Given the description of an element on the screen output the (x, y) to click on. 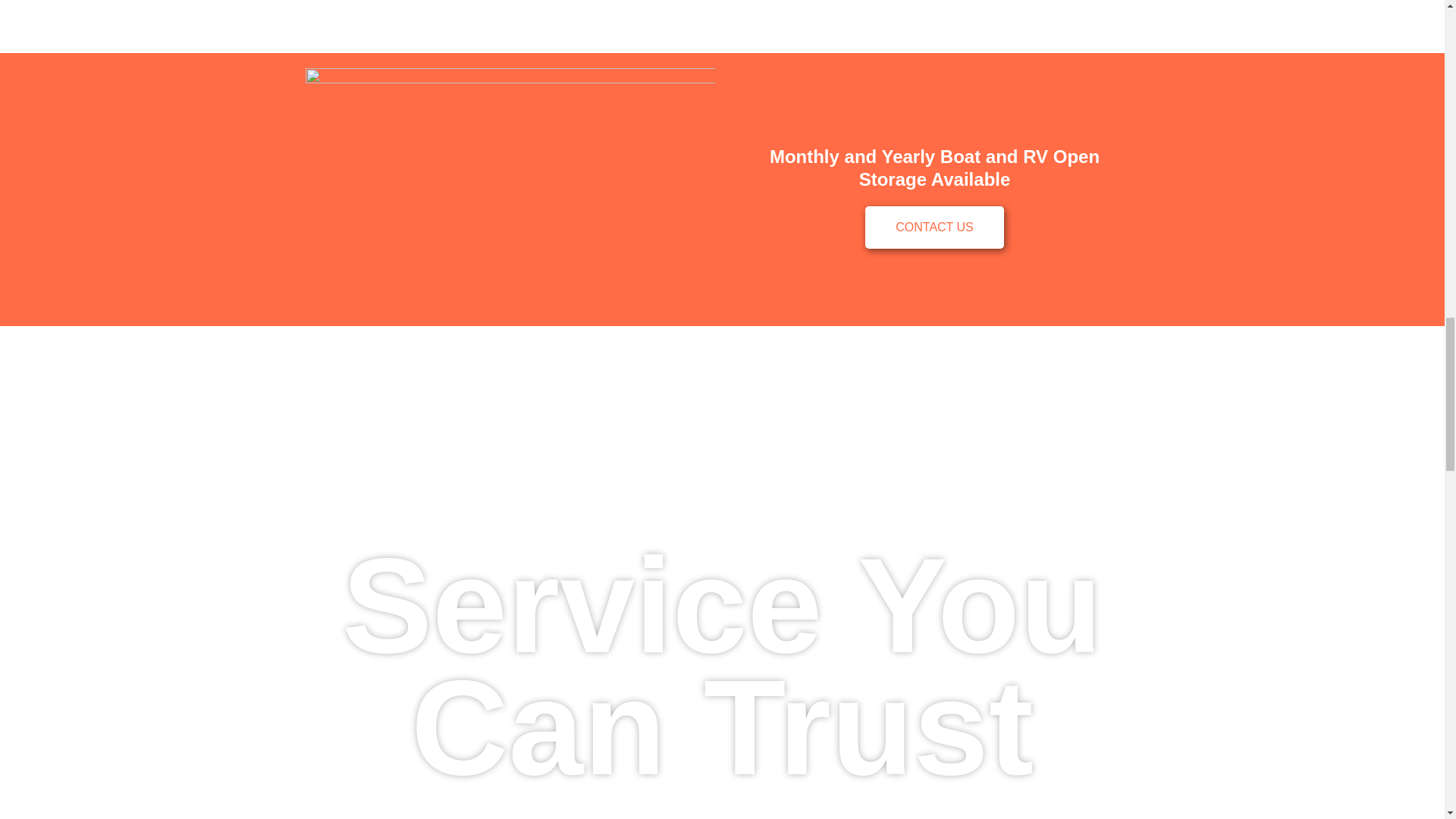
CONTACT US (934, 227)
